Given the description of an element on the screen output the (x, y) to click on. 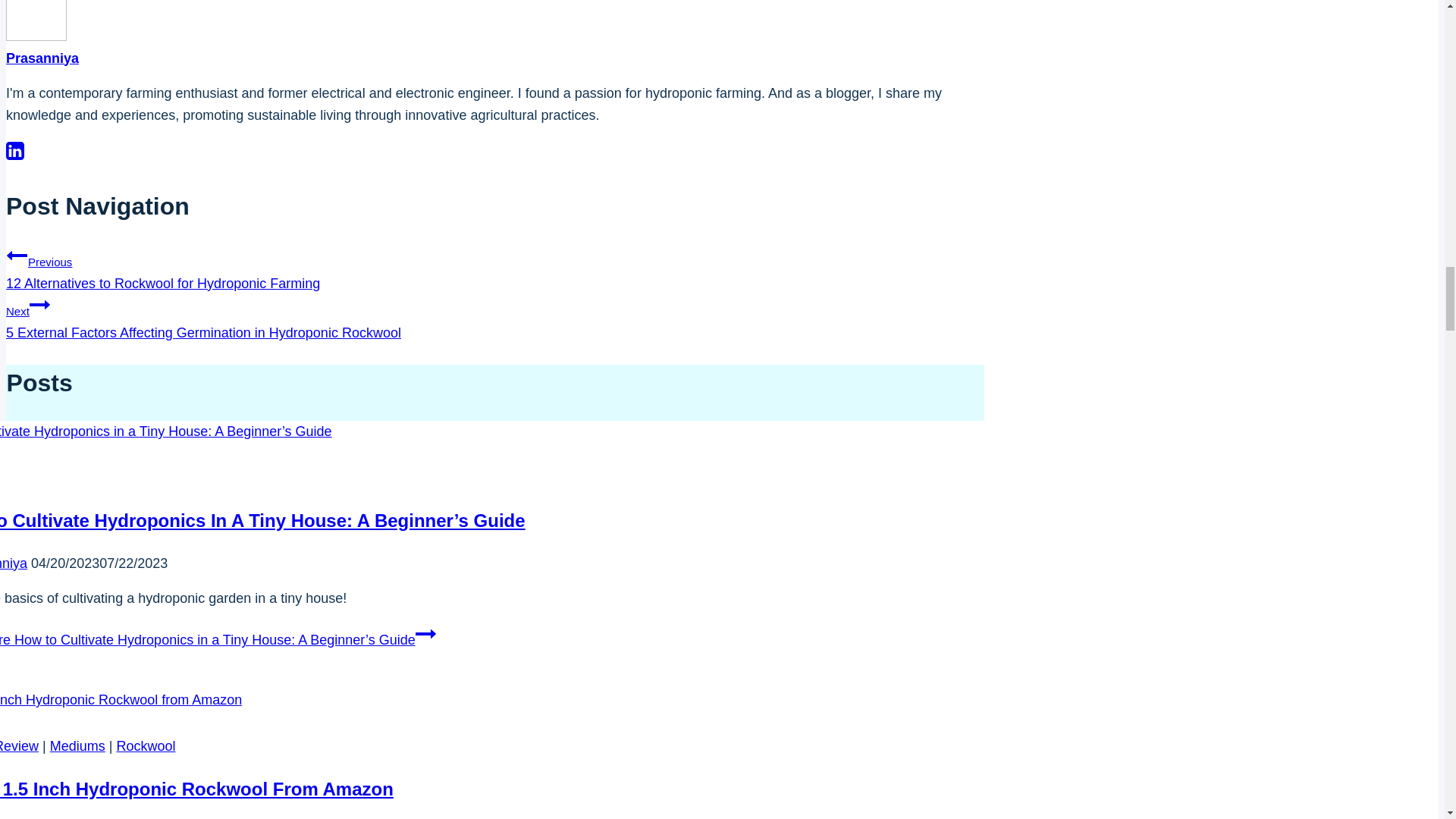
Continue (39, 304)
Posts by Prasanniya (41, 58)
Follow Prasanniya on Linkedin (14, 156)
Linkedin (14, 150)
Continue (424, 633)
Previous (16, 255)
